Given the description of an element on the screen output the (x, y) to click on. 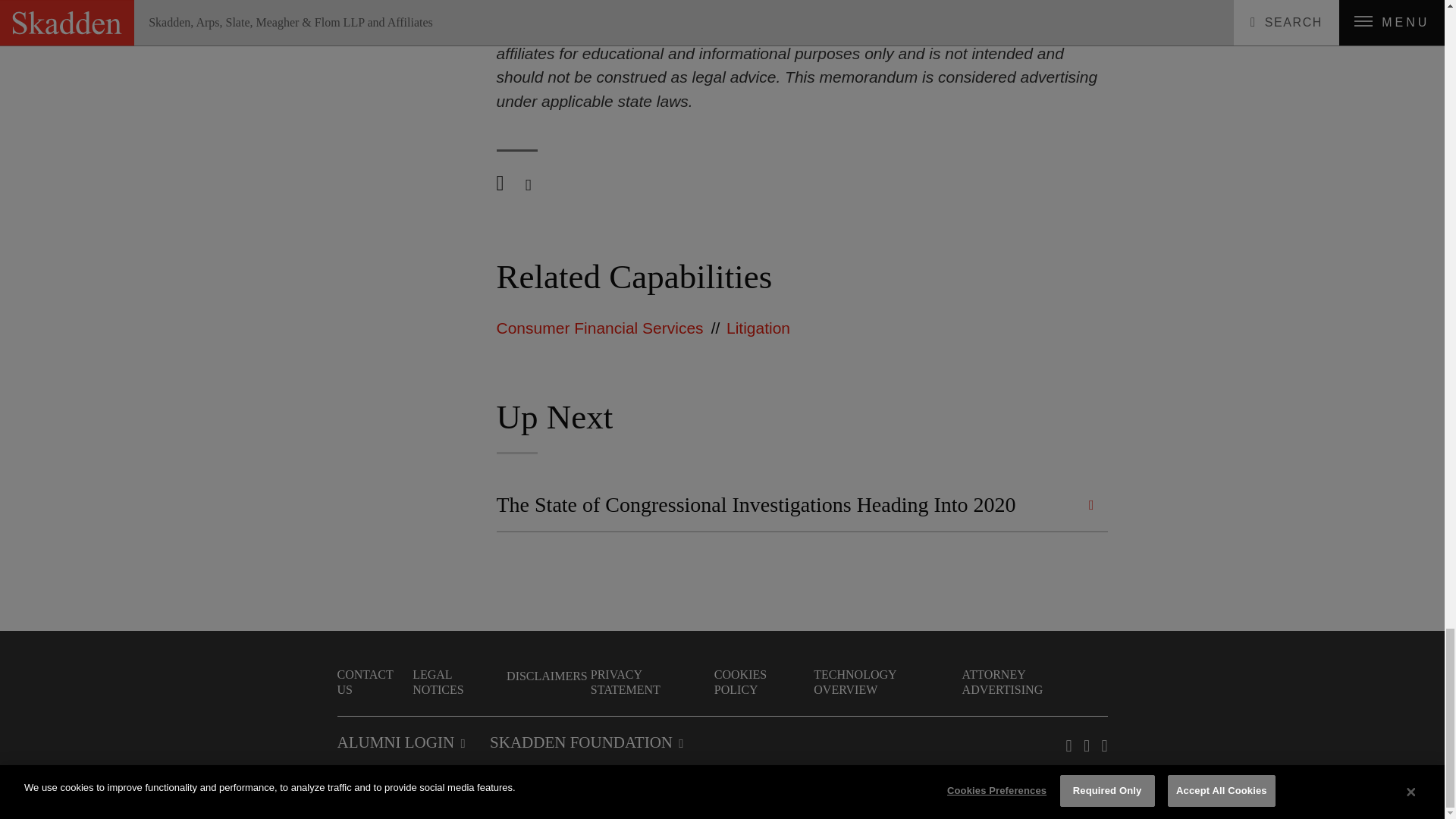
The State of Congressional Investigations Heading Into 2020 (801, 504)
COOKIES POLICY (762, 681)
Navigate to Alumni Login section (400, 742)
LEGAL NOTICES (457, 681)
ATTORNEY ADVERTISING (1033, 681)
Litigation (758, 327)
Navigate to Skadden Foundation section (585, 742)
SKADDEN FOUNDATION (585, 742)
ALUMNI LOGIN (400, 742)
Consumer Financial Services (599, 327)
